Given the description of an element on the screen output the (x, y) to click on. 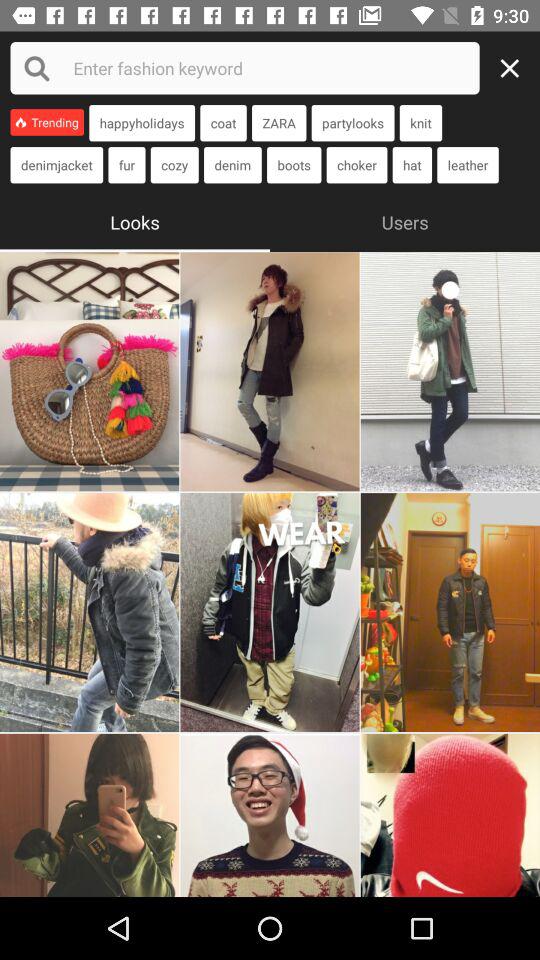
swipe until users item (405, 220)
